Given the description of an element on the screen output the (x, y) to click on. 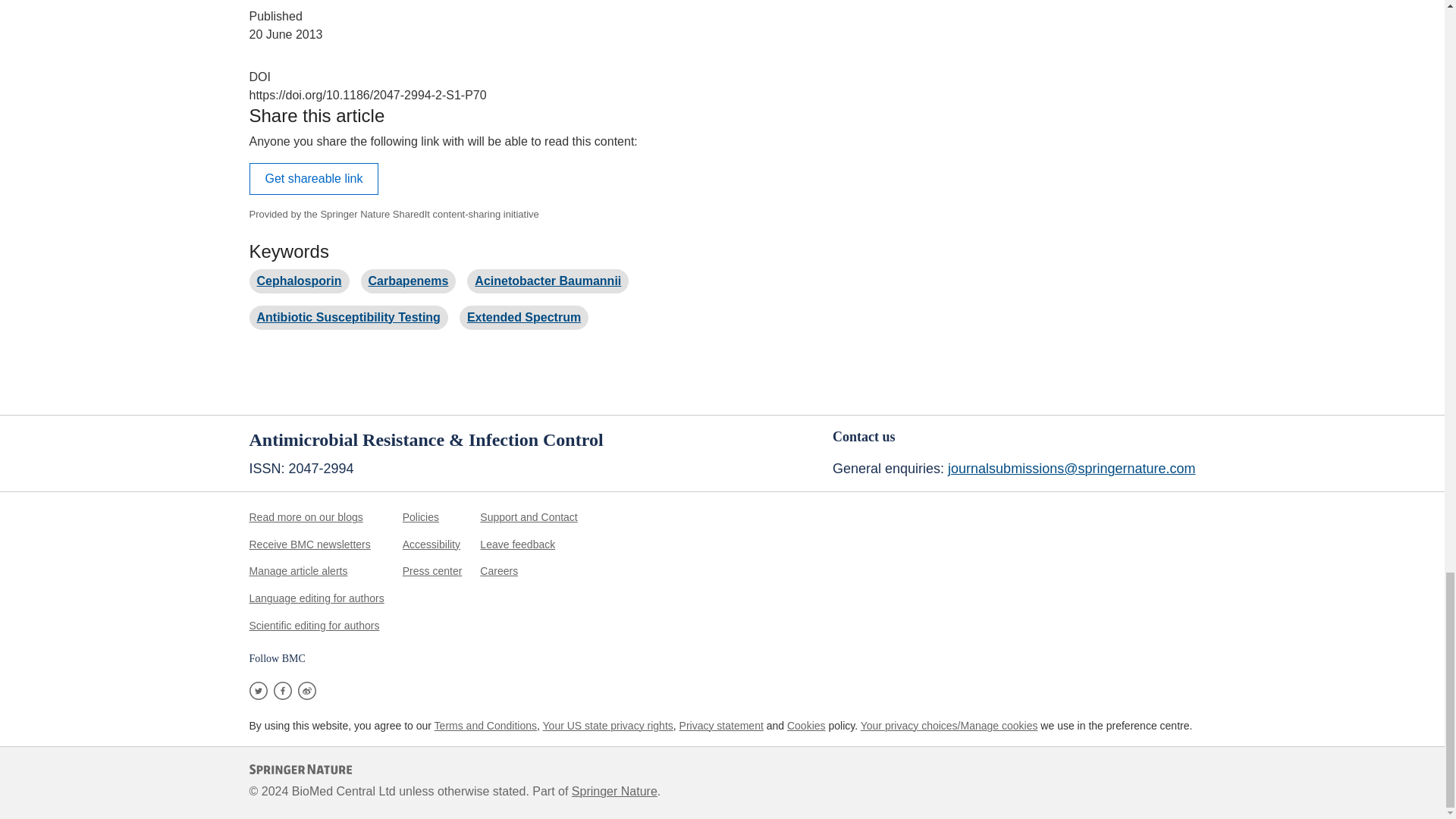
Cephalosporin (298, 280)
Digital Object Identifier (258, 76)
Get shareable link (313, 178)
